Given the description of an element on the screen output the (x, y) to click on. 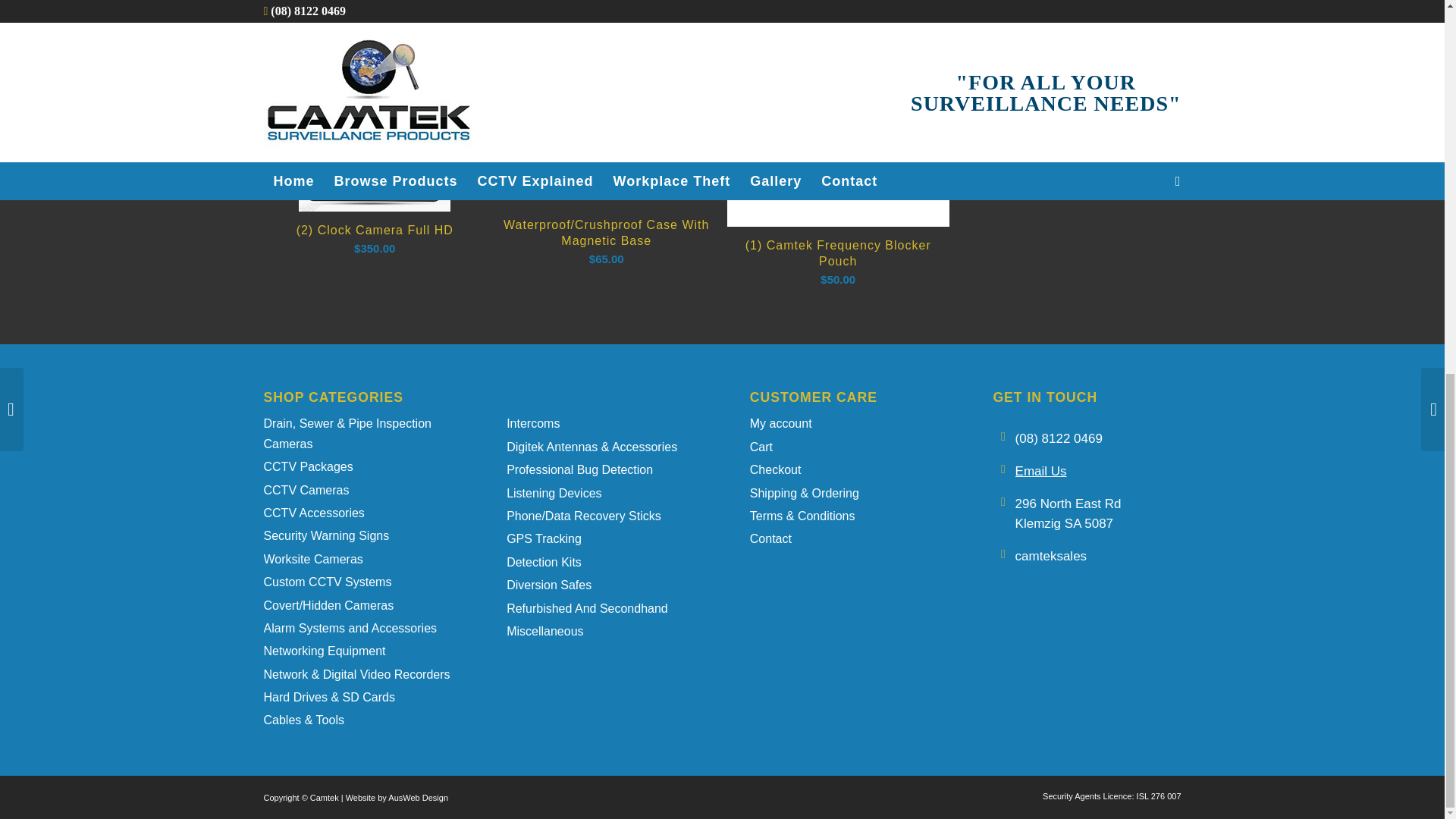
Custom CCTV Systems (357, 580)
GPS Tracking (600, 537)
CCTV Accessories (357, 511)
Listening Devices (600, 491)
CCTV Cameras (357, 488)
Security Warning Signs (357, 534)
Alarm Systems and Accessories (357, 626)
Worksite Cameras (357, 558)
Intercoms (600, 422)
Networking Equipment (357, 649)
